Given the description of an element on the screen output the (x, y) to click on. 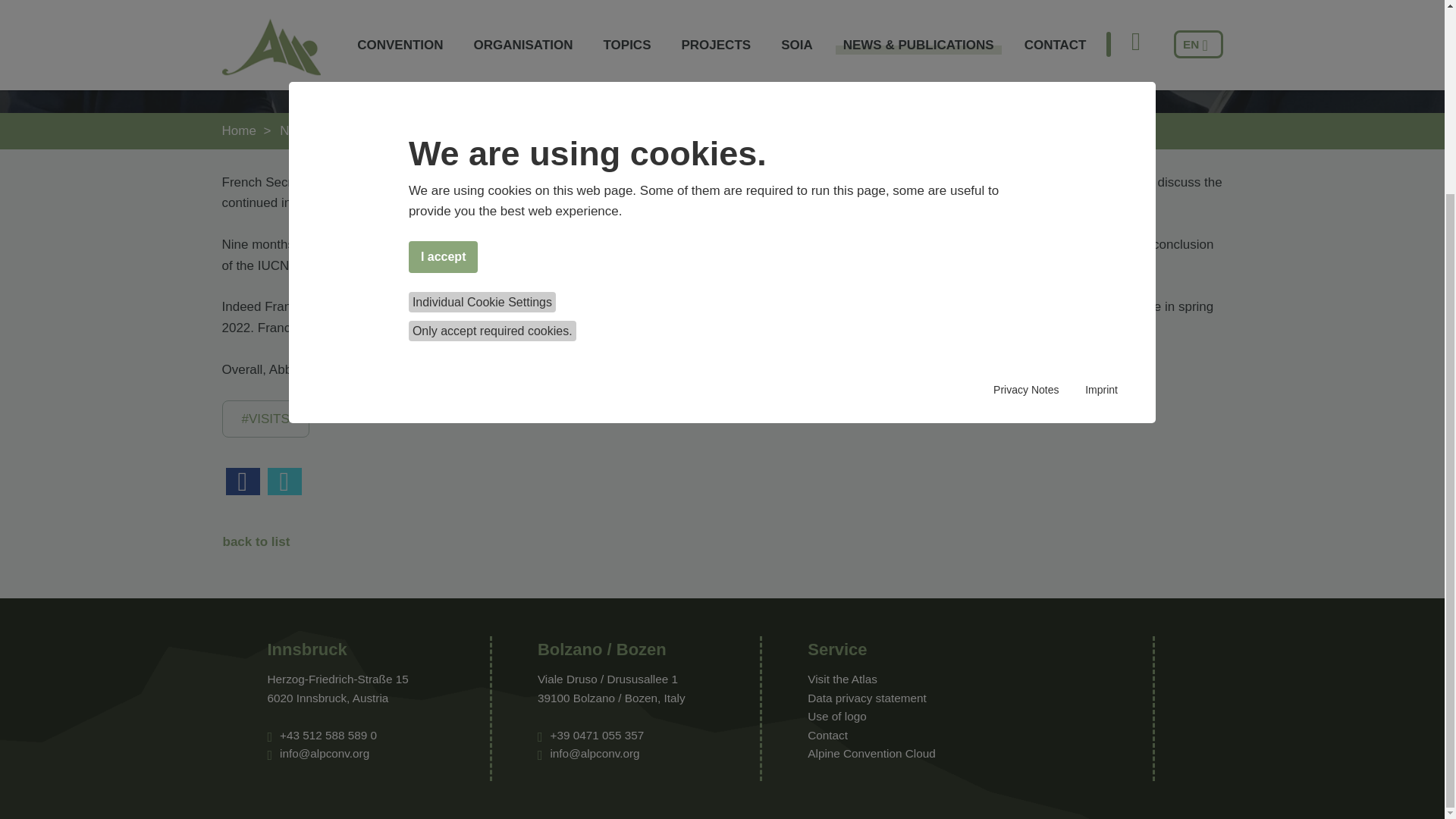
Only accept required cookies. (492, 86)
Home (238, 130)
Privacy Notes (1025, 146)
News (438, 130)
Share on Facebook (242, 481)
I accept (444, 14)
Tweet (283, 481)
Individual Cookie Settings (482, 58)
Imprint (1101, 146)
